Given the description of an element on the screen output the (x, y) to click on. 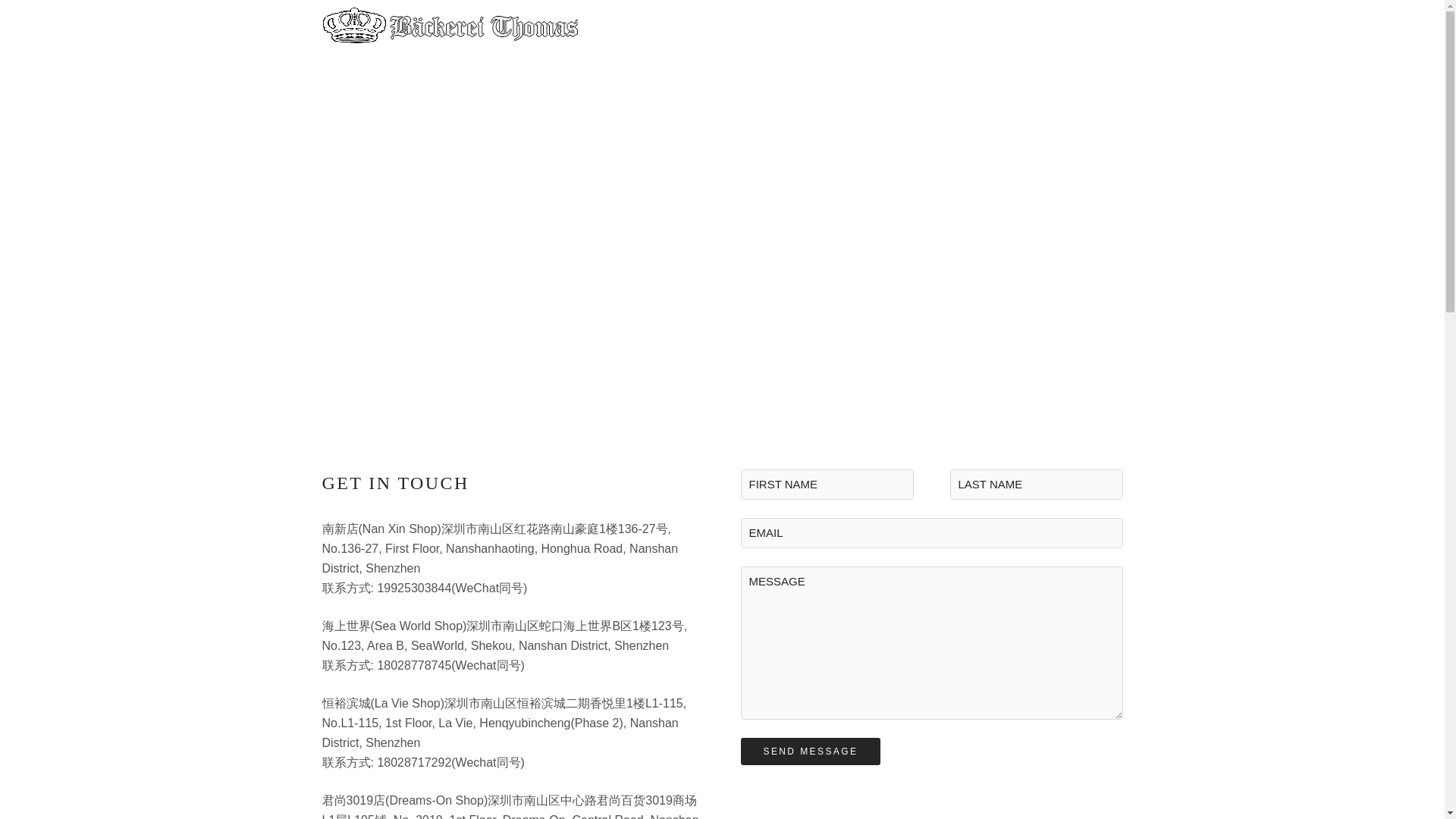
About (807, 26)
Send Message (809, 750)
Contact (1015, 26)
Press (875, 26)
Send Message (809, 750)
Menu (943, 26)
